Given the description of an element on the screen output the (x, y) to click on. 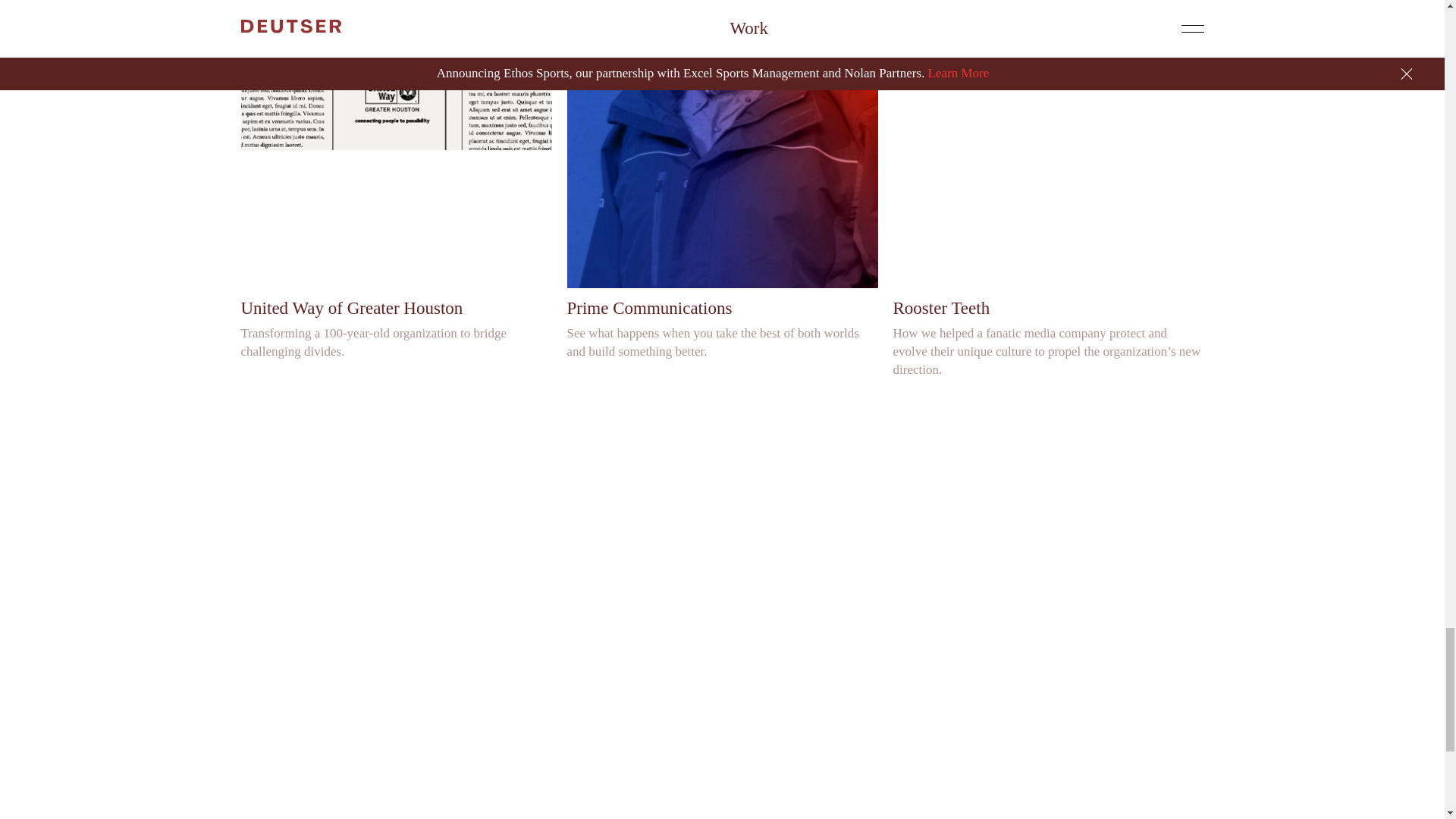
Let's Chat (721, 678)
